Given the description of an element on the screen output the (x, y) to click on. 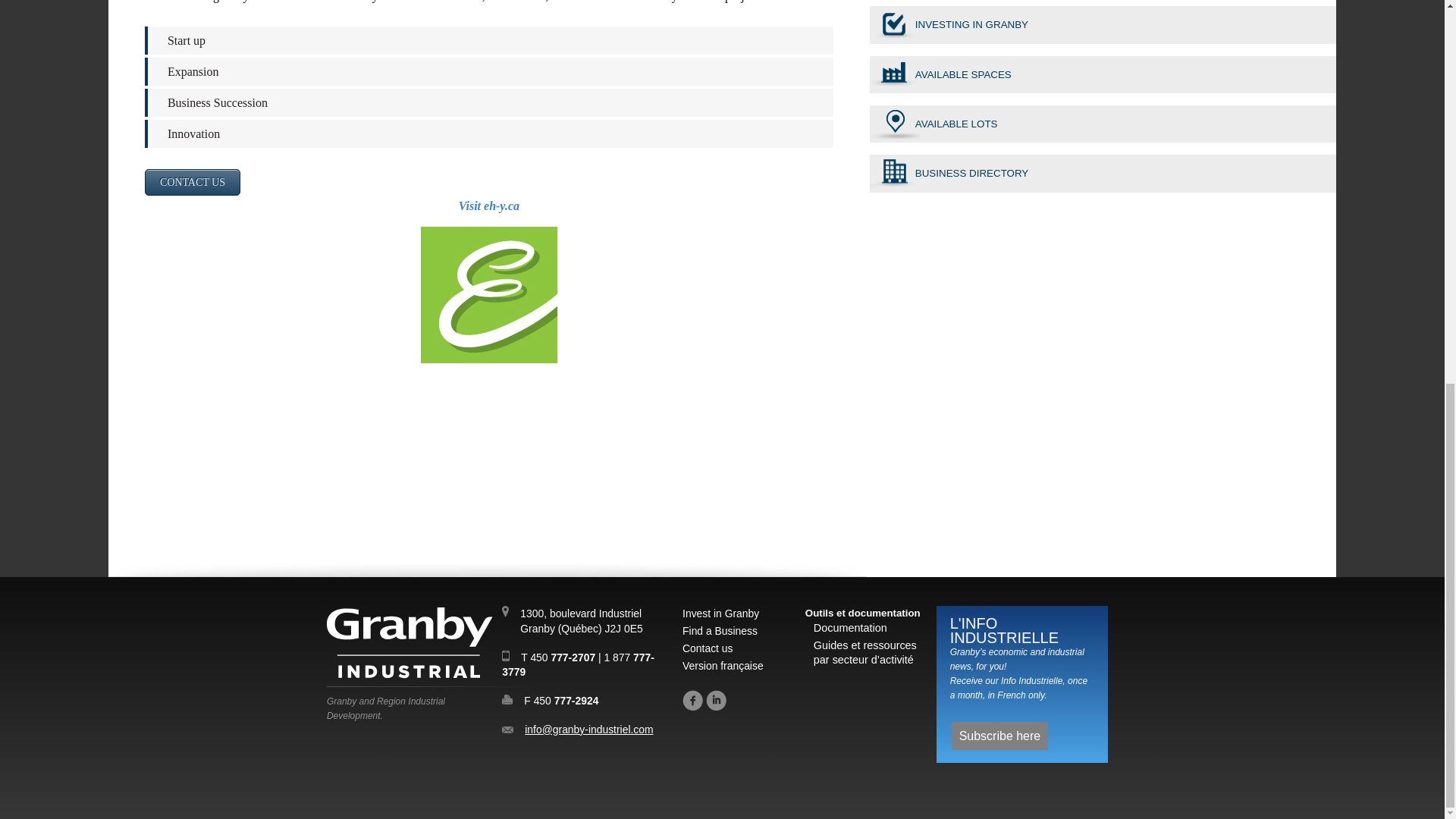
CONTACT US (192, 181)
